Given the description of an element on the screen output the (x, y) to click on. 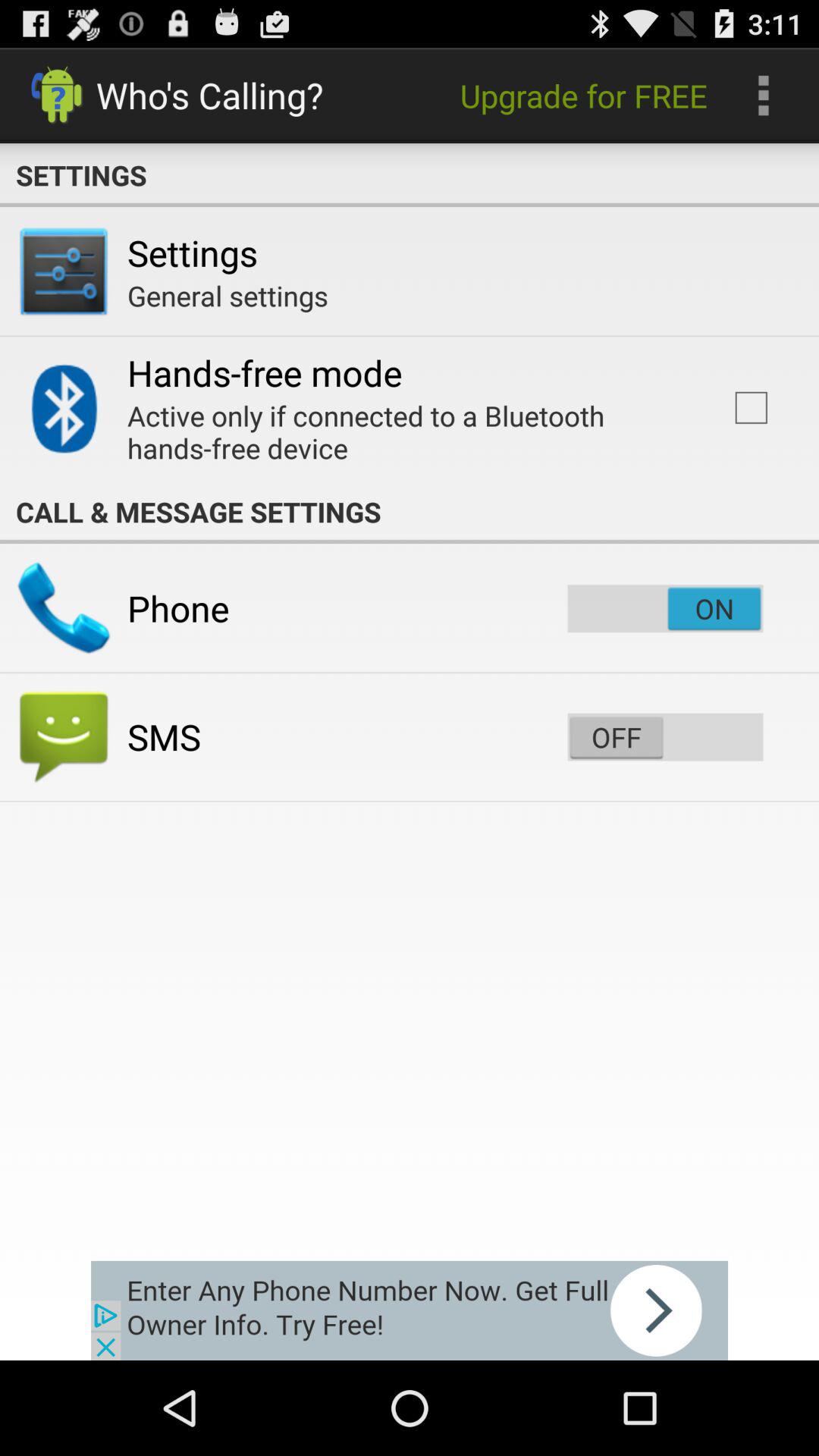
toggle sms tracking (665, 736)
